Given the description of an element on the screen output the (x, y) to click on. 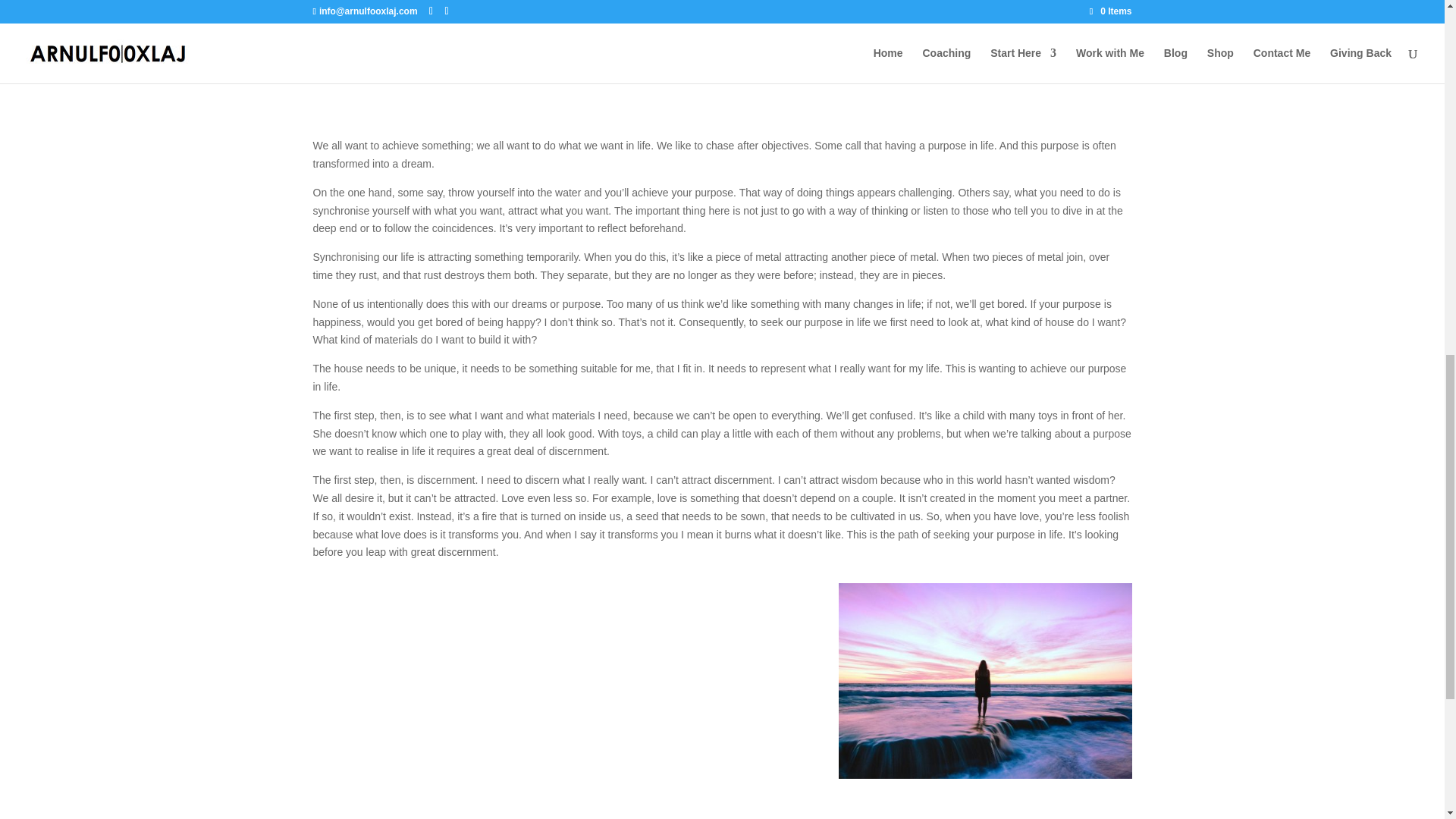
Pinterest (1028, 35)
Twitter (619, 35)
Facebook (414, 35)
